Given the description of an element on the screen output the (x, y) to click on. 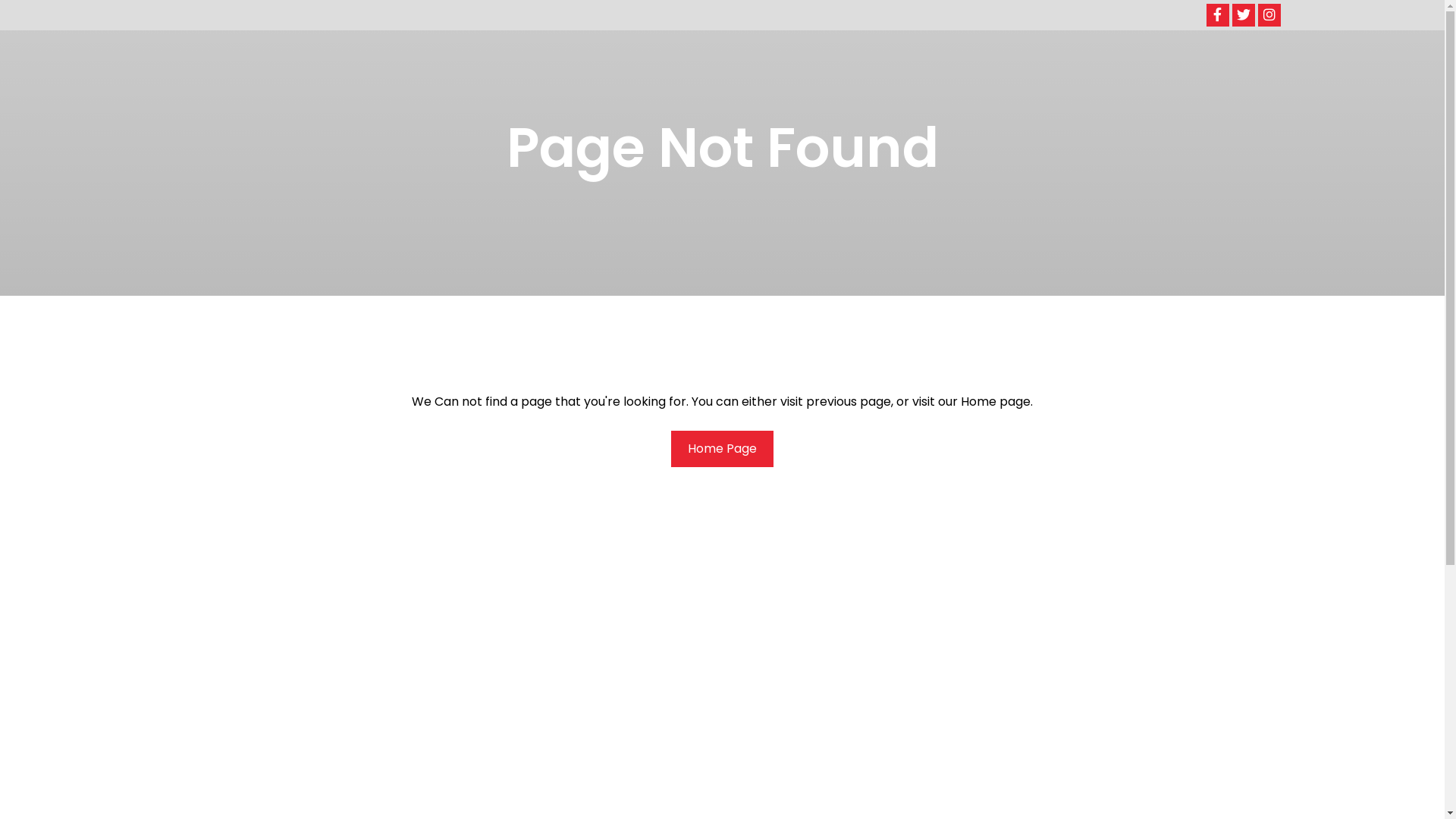
Home Page Element type: text (721, 448)
Our Facebook page Element type: hover (1216, 14)
Home Page Element type: text (722, 448)
Our Instagram page Element type: hover (1268, 14)
Our Twitter page Element type: hover (1242, 14)
